Given the description of an element on the screen output the (x, y) to click on. 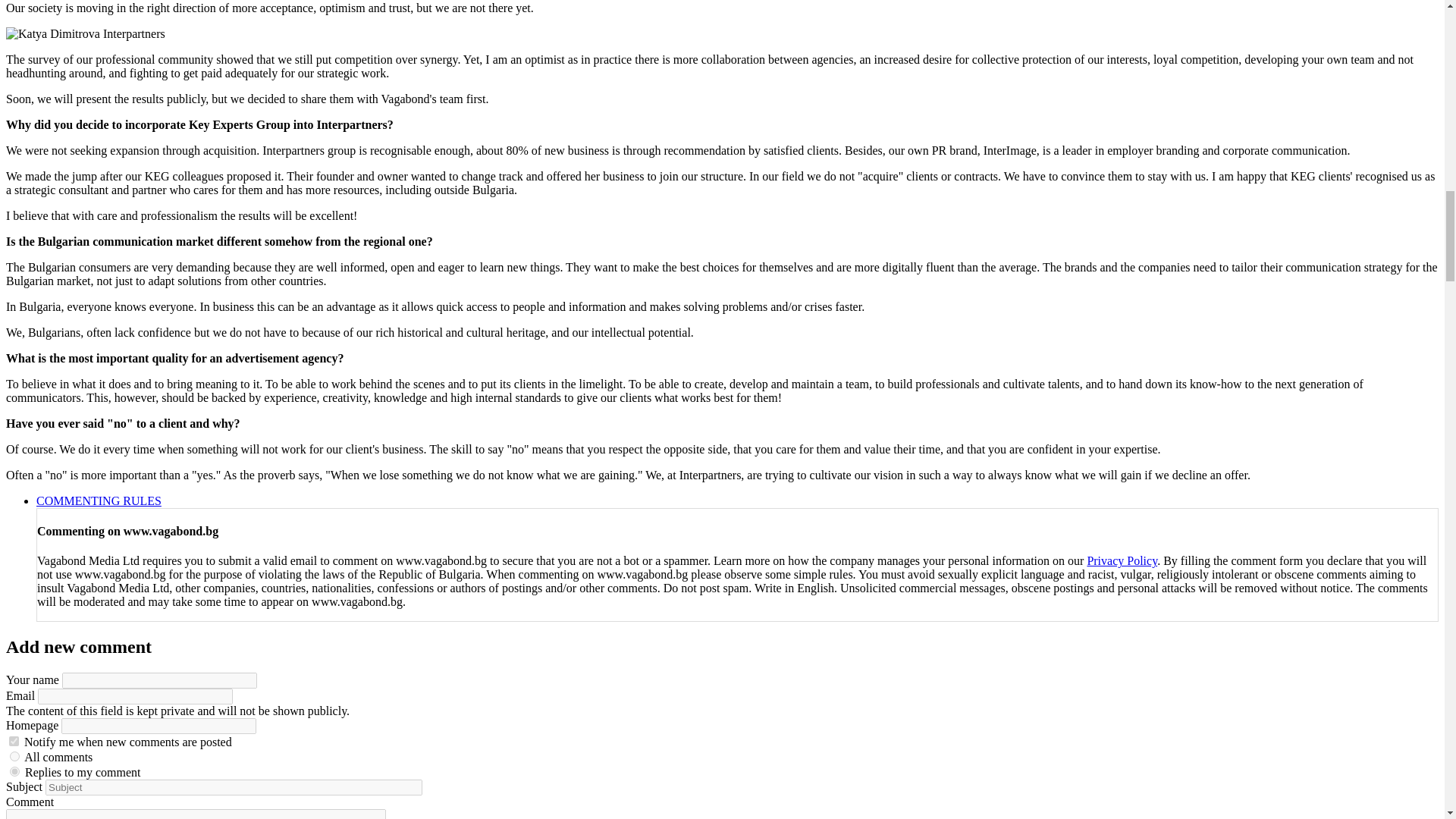
2 (15, 771)
1 (13, 741)
1 (15, 756)
